Given the description of an element on the screen output the (x, y) to click on. 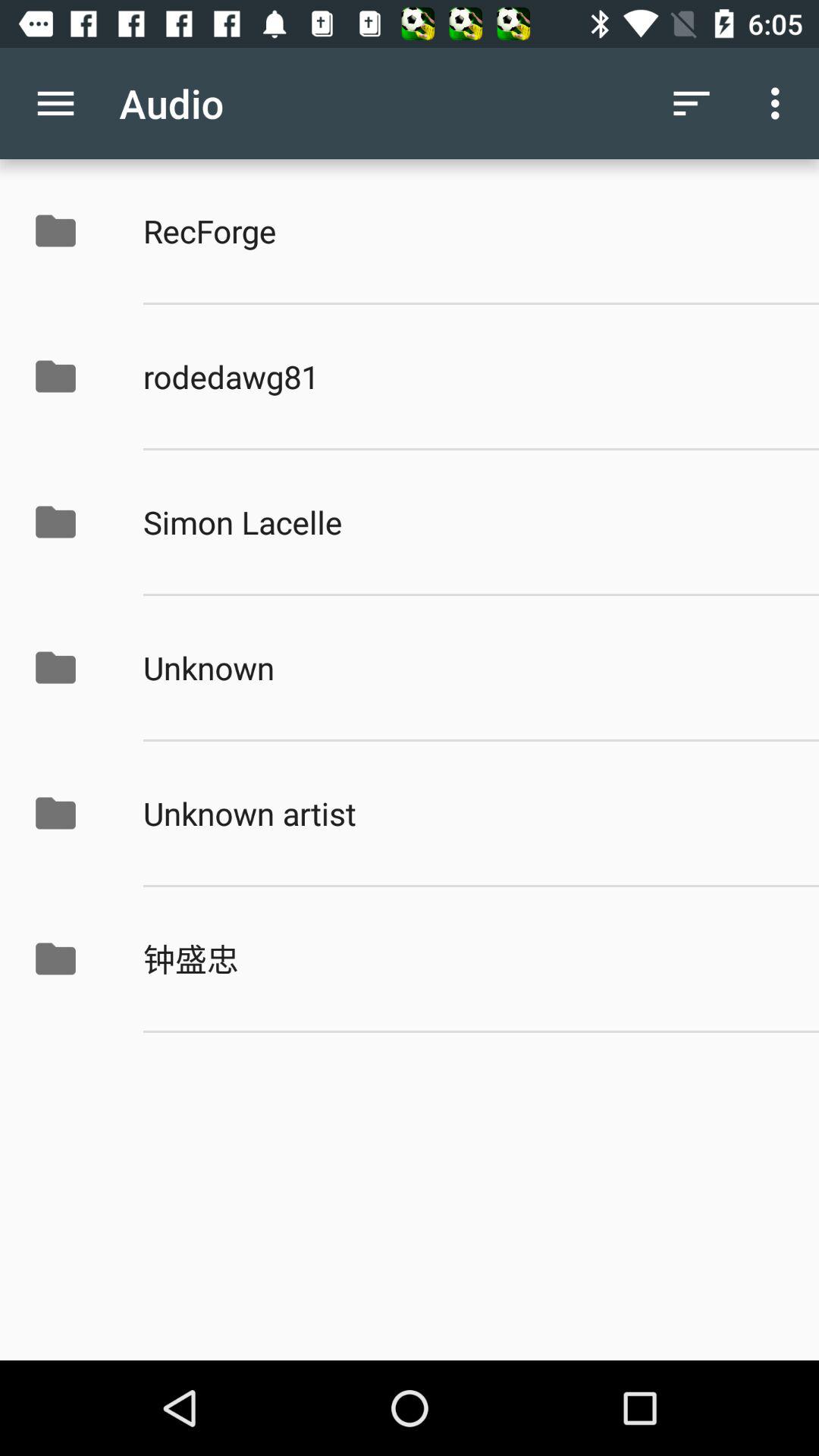
click item above recforge item (779, 103)
